Given the description of an element on the screen output the (x, y) to click on. 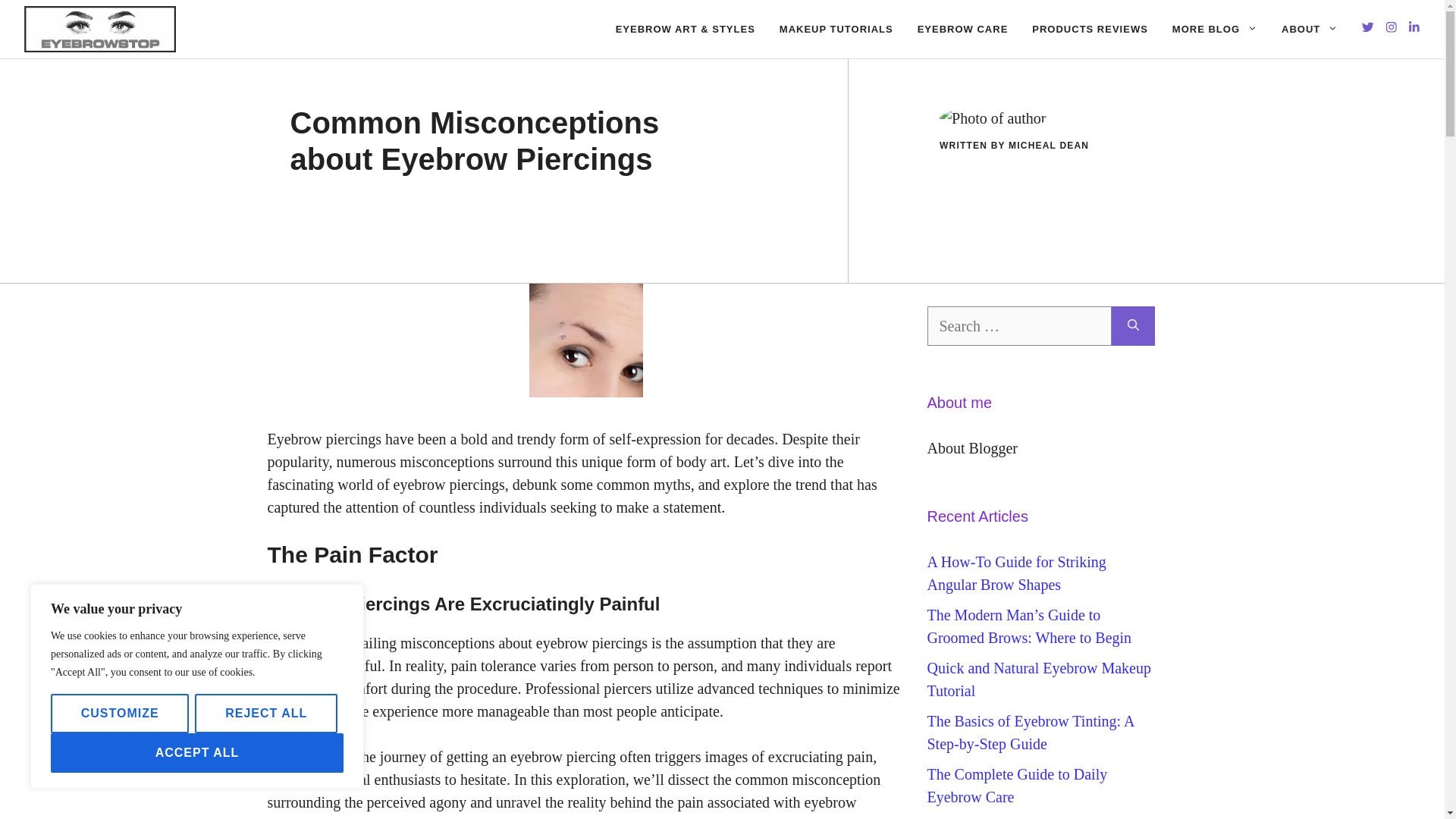
PRODUCTS REVIEWS (1090, 29)
REJECT ALL (266, 713)
MAKEUP TUTORIALS (836, 29)
Search for: (1018, 325)
CUSTOMIZE (119, 713)
MORE BLOG (1214, 29)
EYEBROW CARE (962, 29)
ABOUT (1309, 29)
ACCEPT ALL (196, 753)
